Given the description of an element on the screen output the (x, y) to click on. 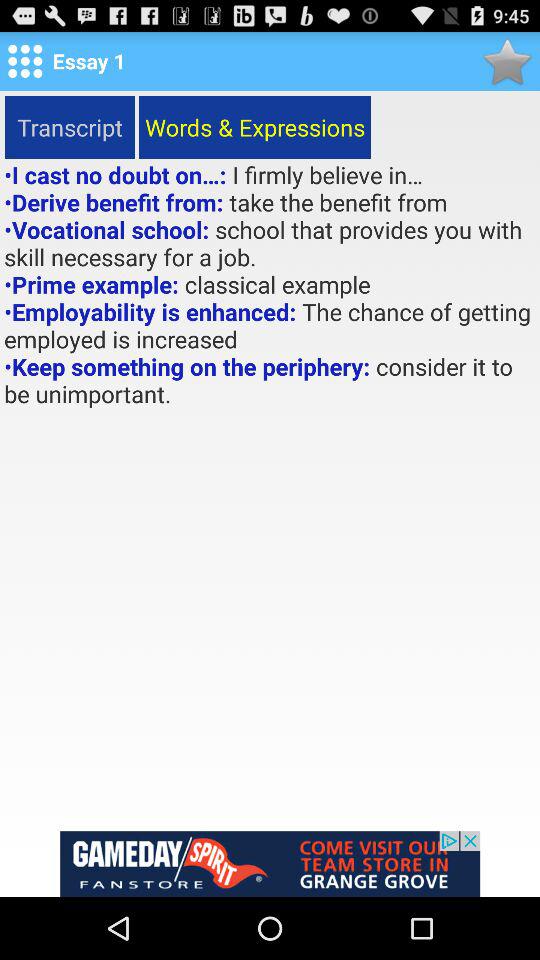
bookmark option (506, 60)
